Given the description of an element on the screen output the (x, y) to click on. 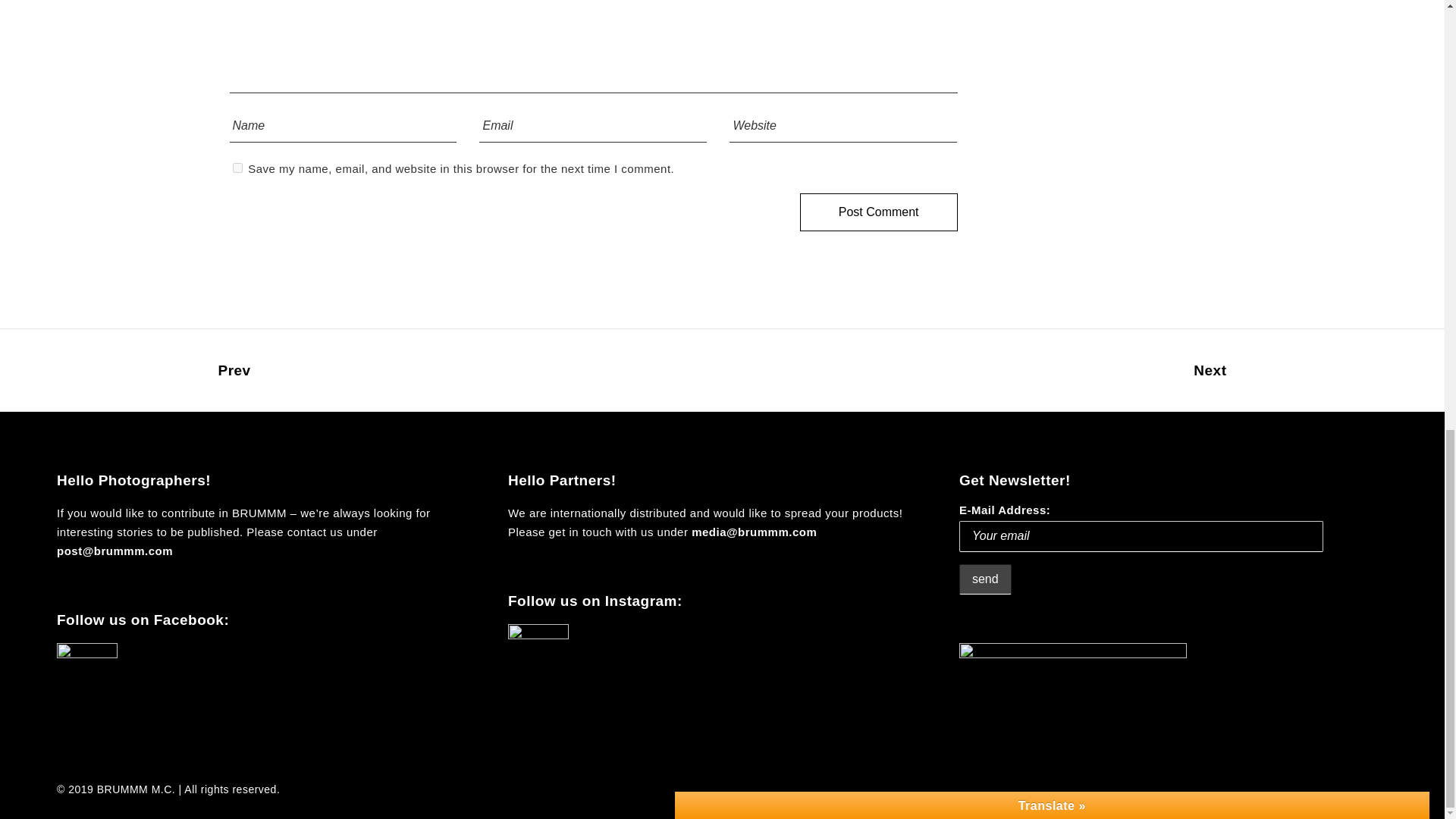
send (985, 578)
Post Comment (878, 211)
yes (236, 167)
